Given the description of an element on the screen output the (x, y) to click on. 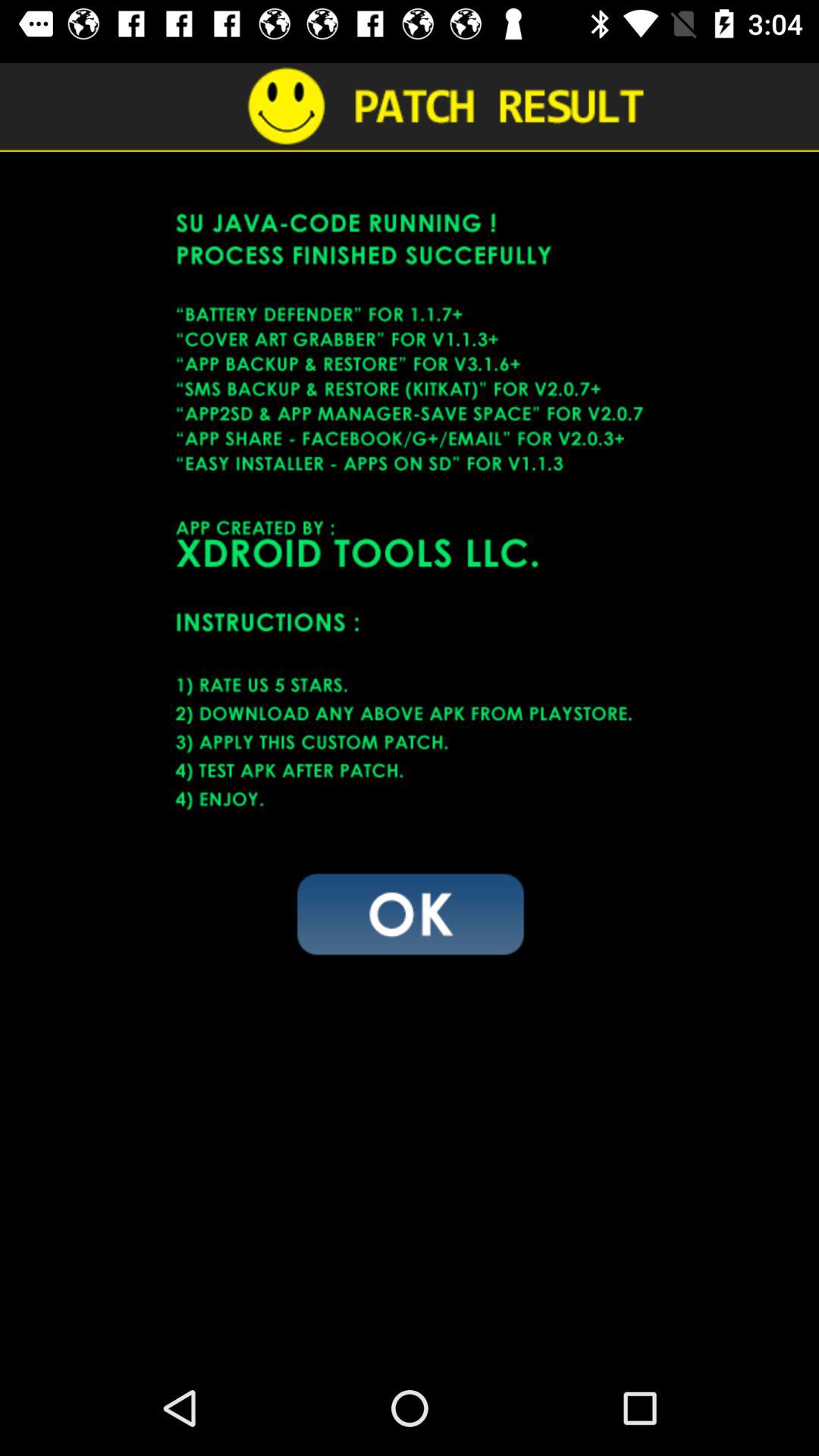
press ok (409, 913)
